Given the description of an element on the screen output the (x, y) to click on. 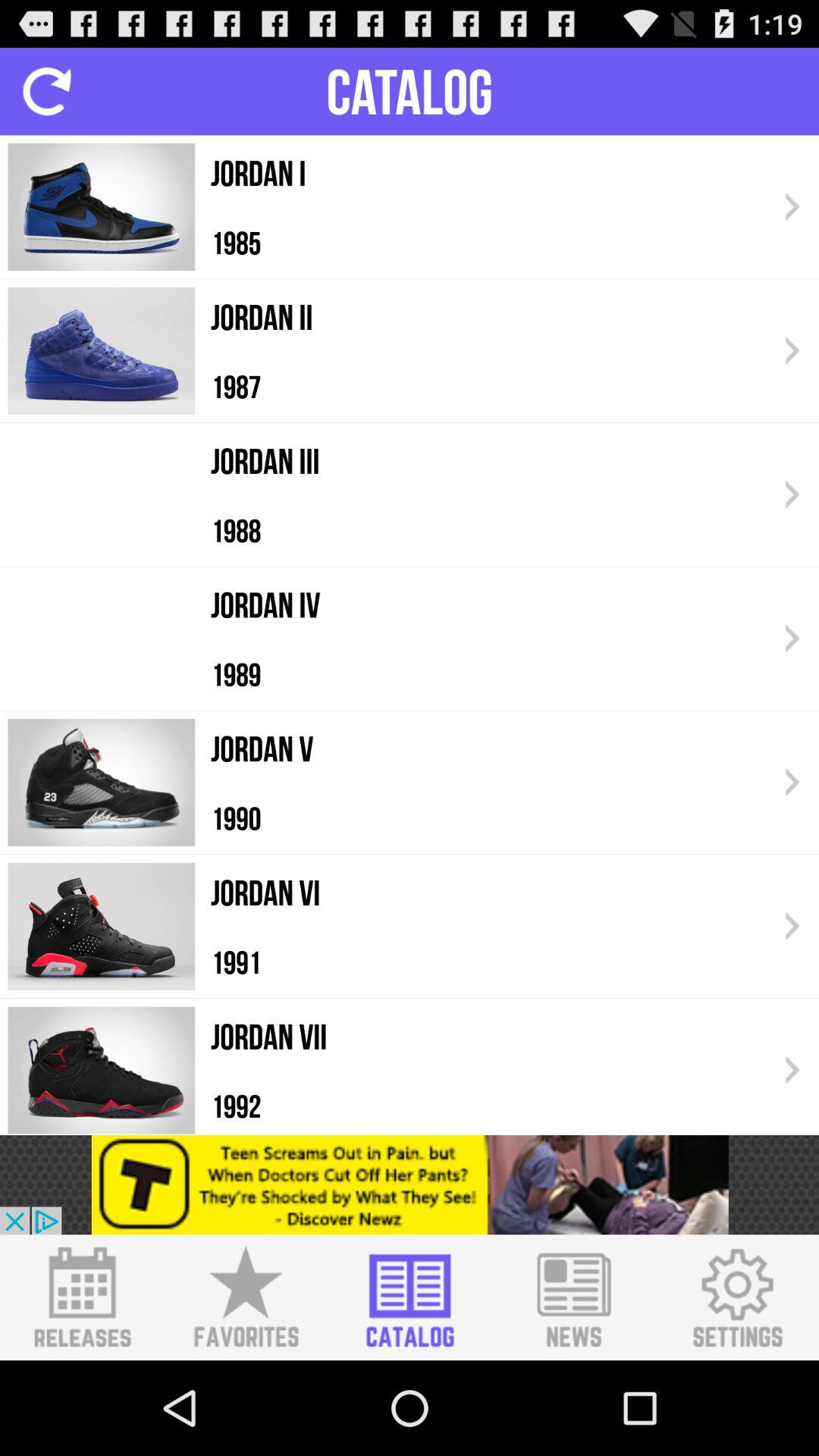
advertisement (409, 1184)
